Given the description of an element on the screen output the (x, y) to click on. 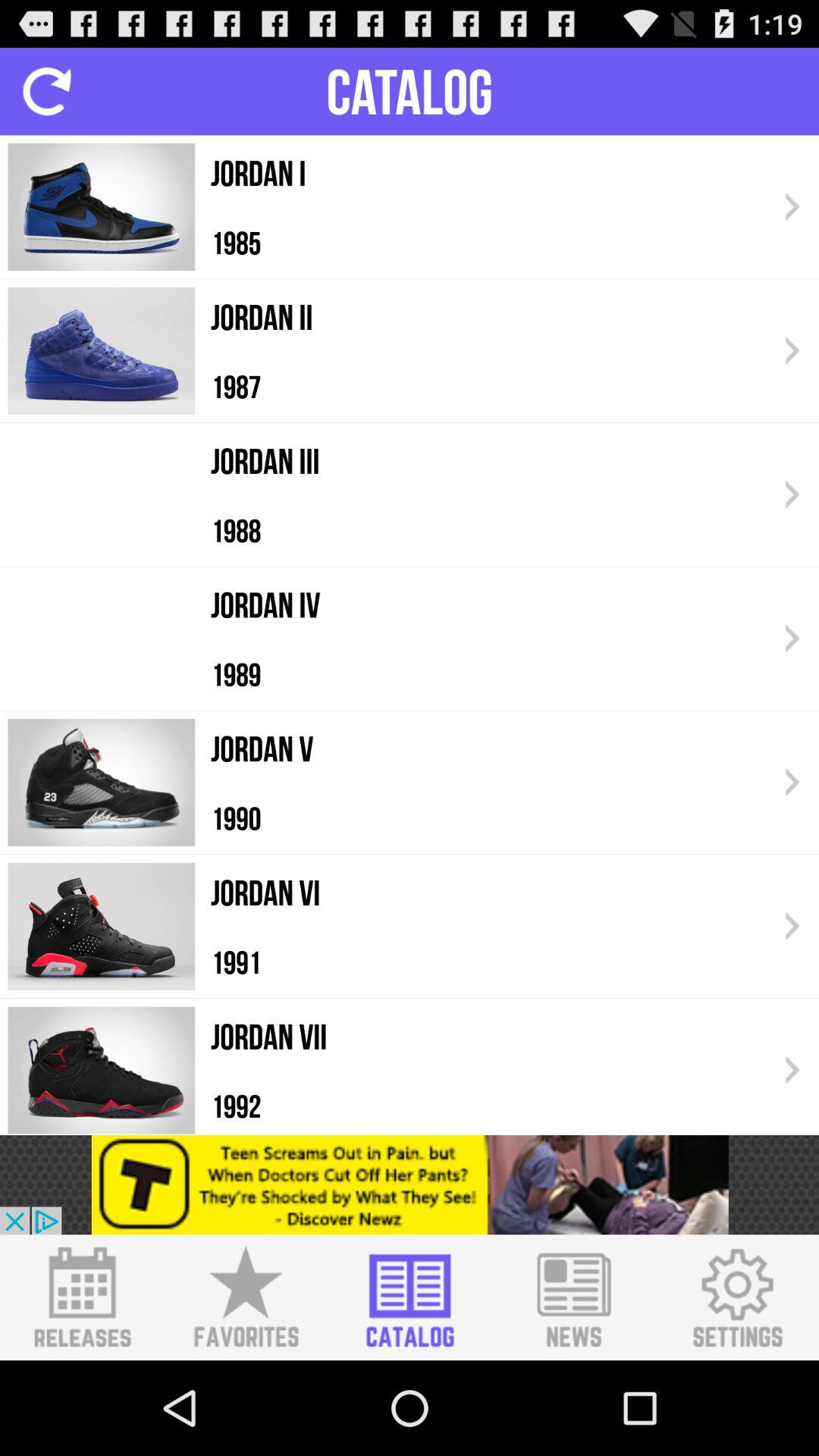
advertisement (409, 1184)
